Given the description of an element on the screen output the (x, y) to click on. 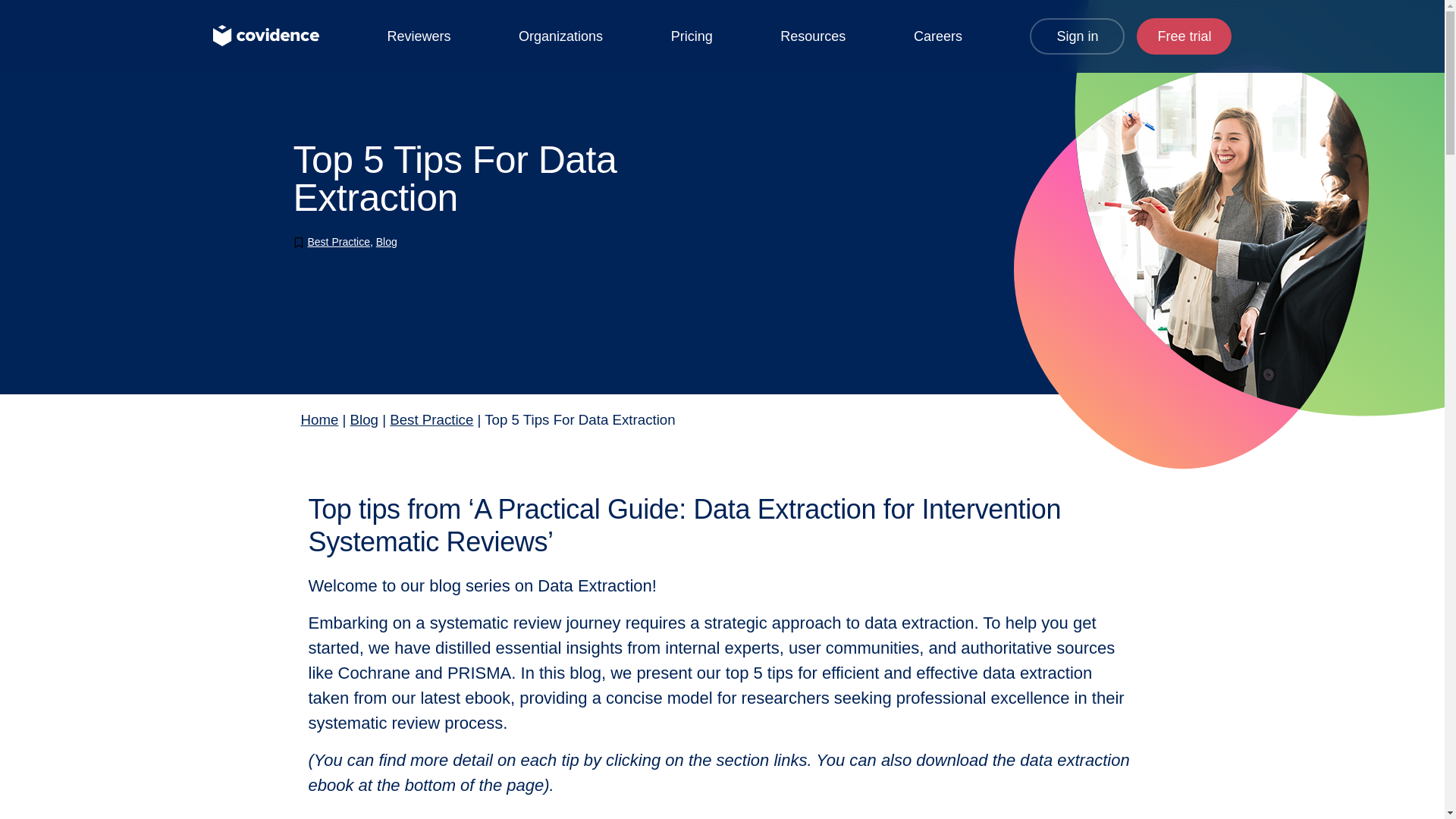
Resources (812, 35)
Careers (938, 35)
Home (318, 419)
Best Practice (431, 419)
Reviewers (418, 35)
Blog (364, 419)
Pricing (692, 35)
Best Practice (338, 241)
Sign in (1076, 36)
Free trial (1184, 36)
